Given the description of an element on the screen output the (x, y) to click on. 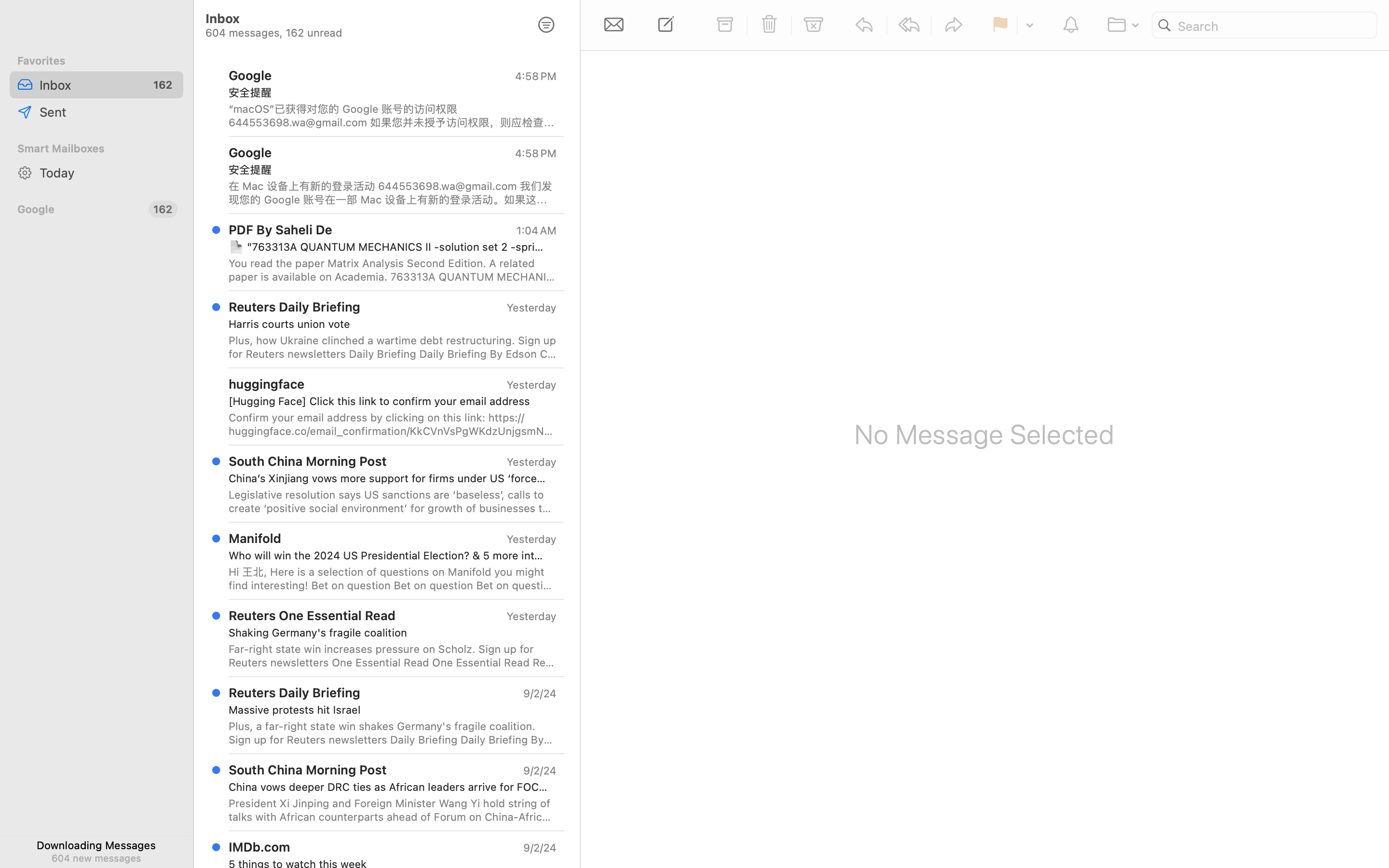
PDF By Saheli De Element type: AXStaticText (280, 229)
Who will win the 2024 US Presidential Election? & 5 more interesting markets on Manifold Element type: AXStaticText (388, 555)
IMDb.com Element type: AXStaticText (259, 846)
President Xi Jinping and Foreign Minister Wang Yi hold string of talks with African counterparts ahead of Forum on China-Africa ... - South China Morning Post, SCMP, SCMP Today: Intl Edition - President Xi Jinping and Foreign Minister Wang Yi hold string of talks with African counterparts ahead of Forum on China-Africa ... Monday 2nd September, 2024 China politics & diplomacy ChinaChina vows deeper DRC ties as African leaders arrive for FOCAC meetings2 Sep, 2024 - 05:13 pmPresident Xi Jinping and Foreign Minister Wang Yi hold string of talks with African counterparts ahead of Forum on China-Africa Cooperation. EconomyChina moves to curb money worship, extravagance and excess in financial sector2 Sep, 2024 - 04:04 pm EconomyChina’s yuan to continue to gain, but outlook hinges on Fed rate cuts: analysts2 Sep, 2024 - 05:42 pm Featured Podcast3. Millennials, GenZ and hire education Video Of The Day Hong Kong’s youngest Paralympic medallist Jasmine Ng clinches swimming bronze at age 14OPINI Element type: AXStaticText (392, 809)
Massive protests hit Israel Element type: AXStaticText (388, 709)
